Given the description of an element on the screen output the (x, y) to click on. 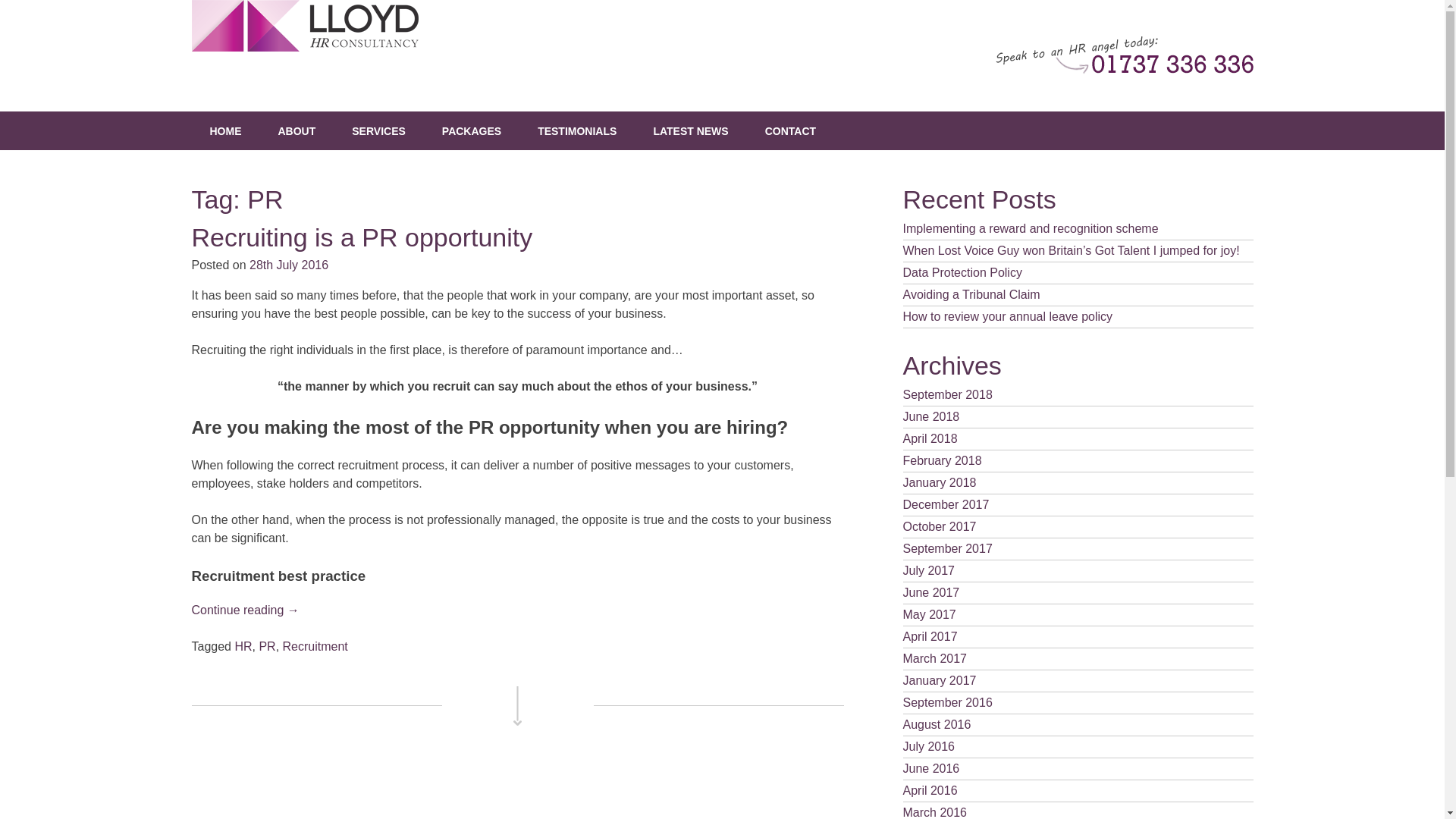
How to review your annual leave policy (1077, 317)
HOME (224, 130)
October 2017 (1077, 527)
PR (267, 645)
Recruitment (314, 645)
January 2018 (1077, 483)
TESTIMONIALS (576, 130)
July 2017 (1077, 571)
December 2017 (1077, 505)
September 2018 (1077, 395)
June 2018 (1077, 417)
May 2017 (1077, 615)
CONTACT (790, 130)
April 2018 (1077, 439)
Recruiting is a PR opportunity (361, 236)
